Given the description of an element on the screen output the (x, y) to click on. 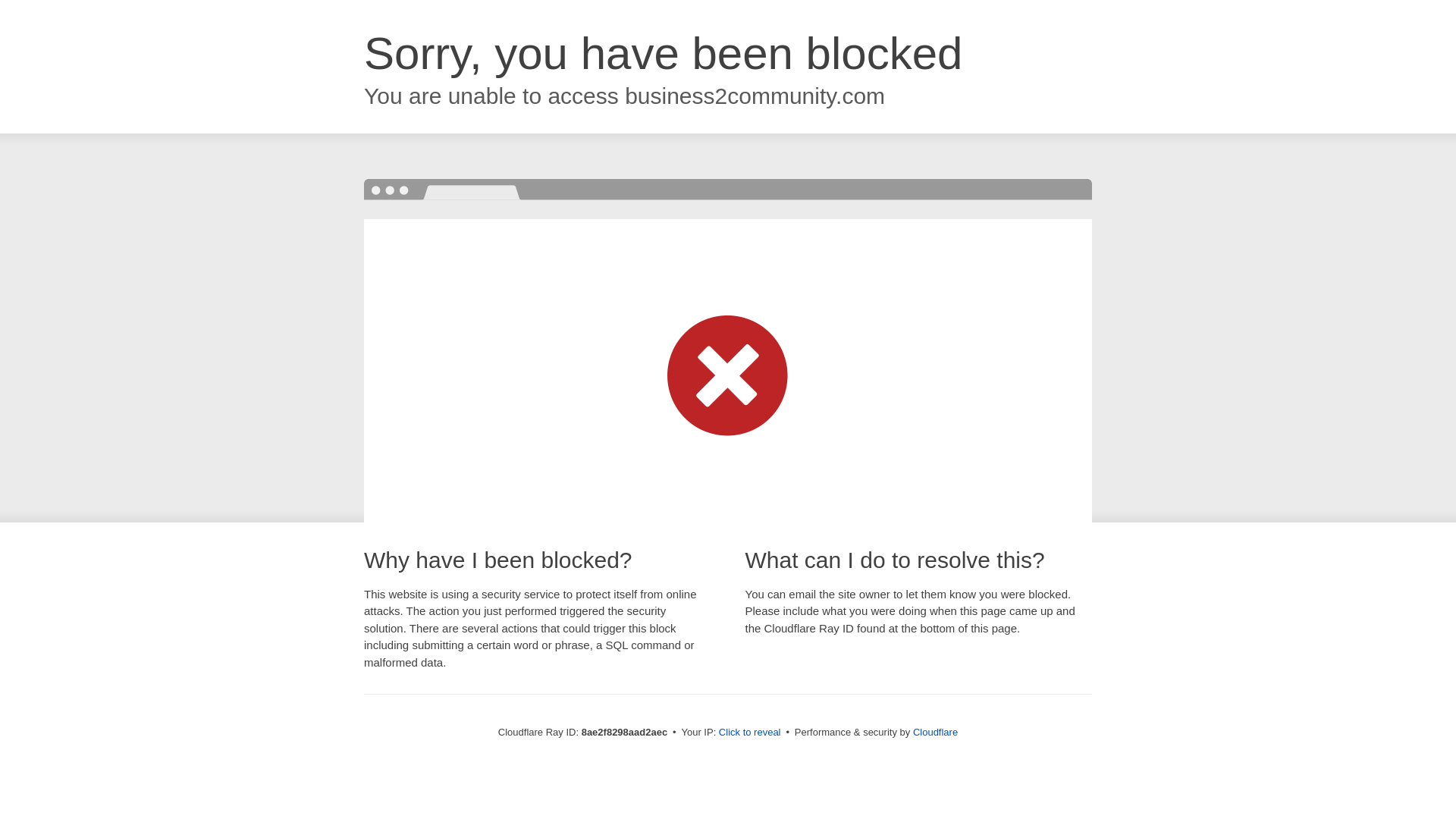
Click to reveal (749, 732)
Cloudflare (935, 731)
